Given the description of an element on the screen output the (x, y) to click on. 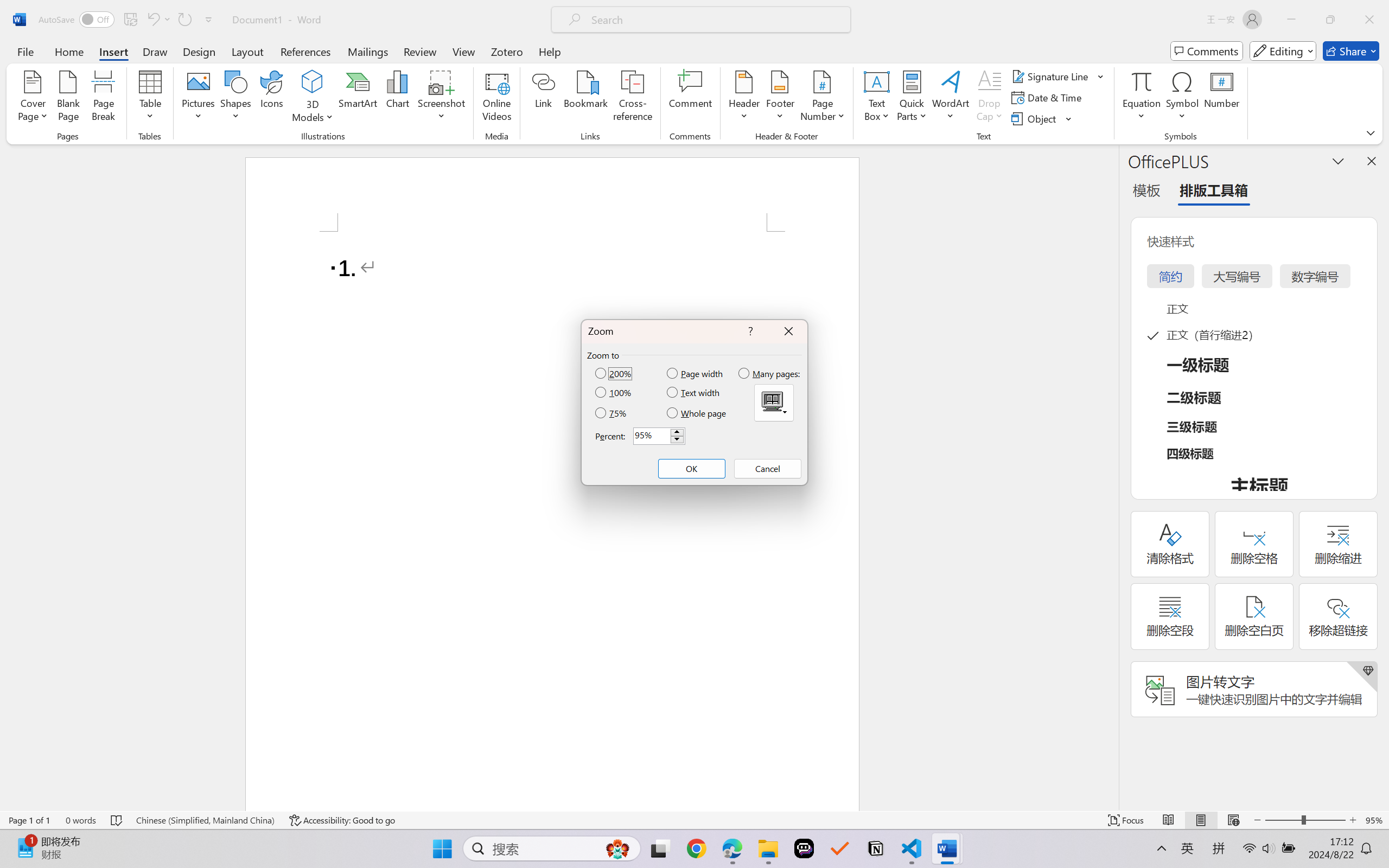
Drop Cap (989, 97)
3D Models (312, 97)
Percent: (658, 435)
Whole page (696, 412)
Repeat Doc Close (184, 19)
Bookmark... (585, 97)
